Given the description of an element on the screen output the (x, y) to click on. 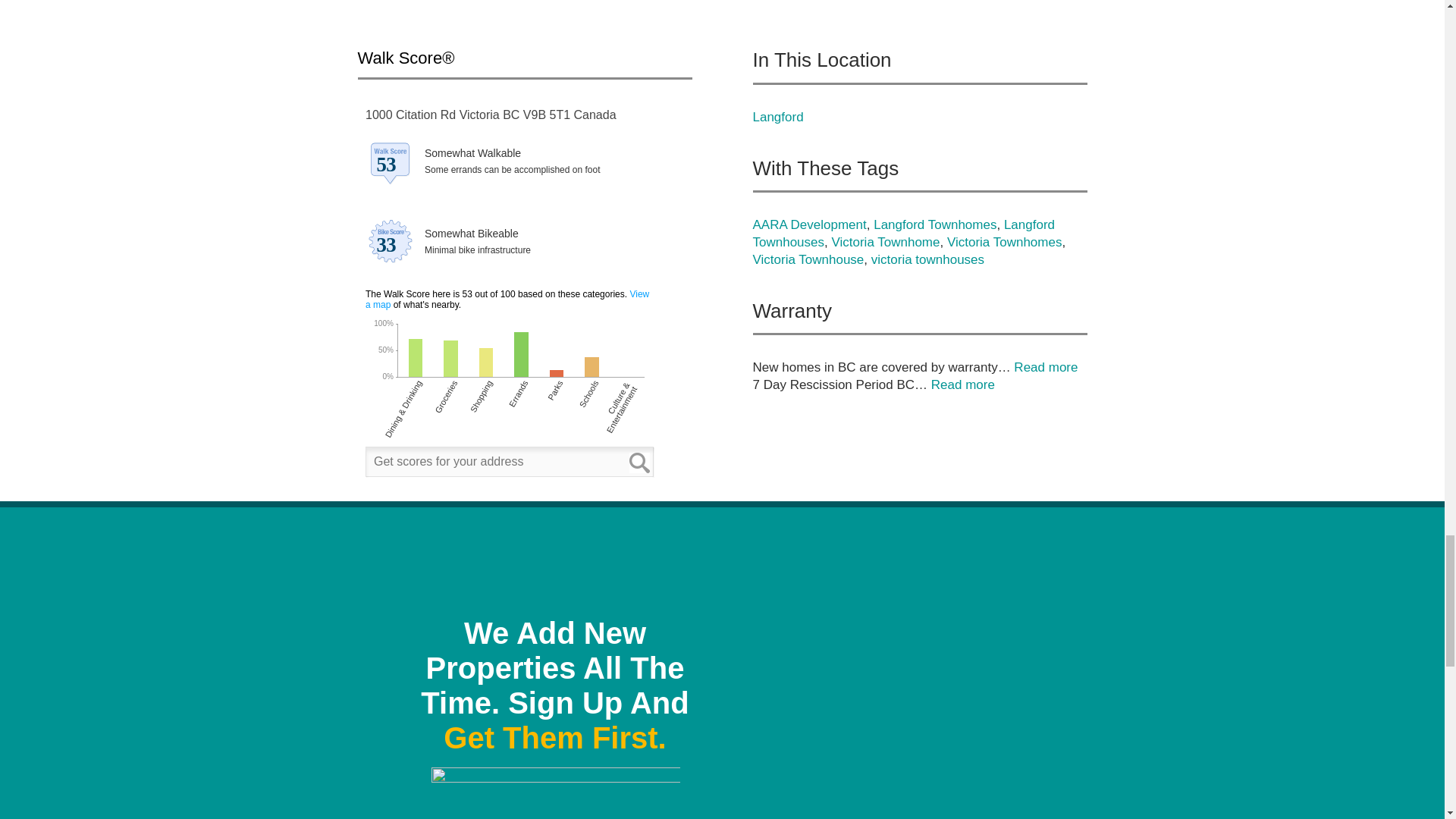
Langford (777, 116)
AARA Development (809, 224)
Langford Townhomes (934, 224)
